Given the description of an element on the screen output the (x, y) to click on. 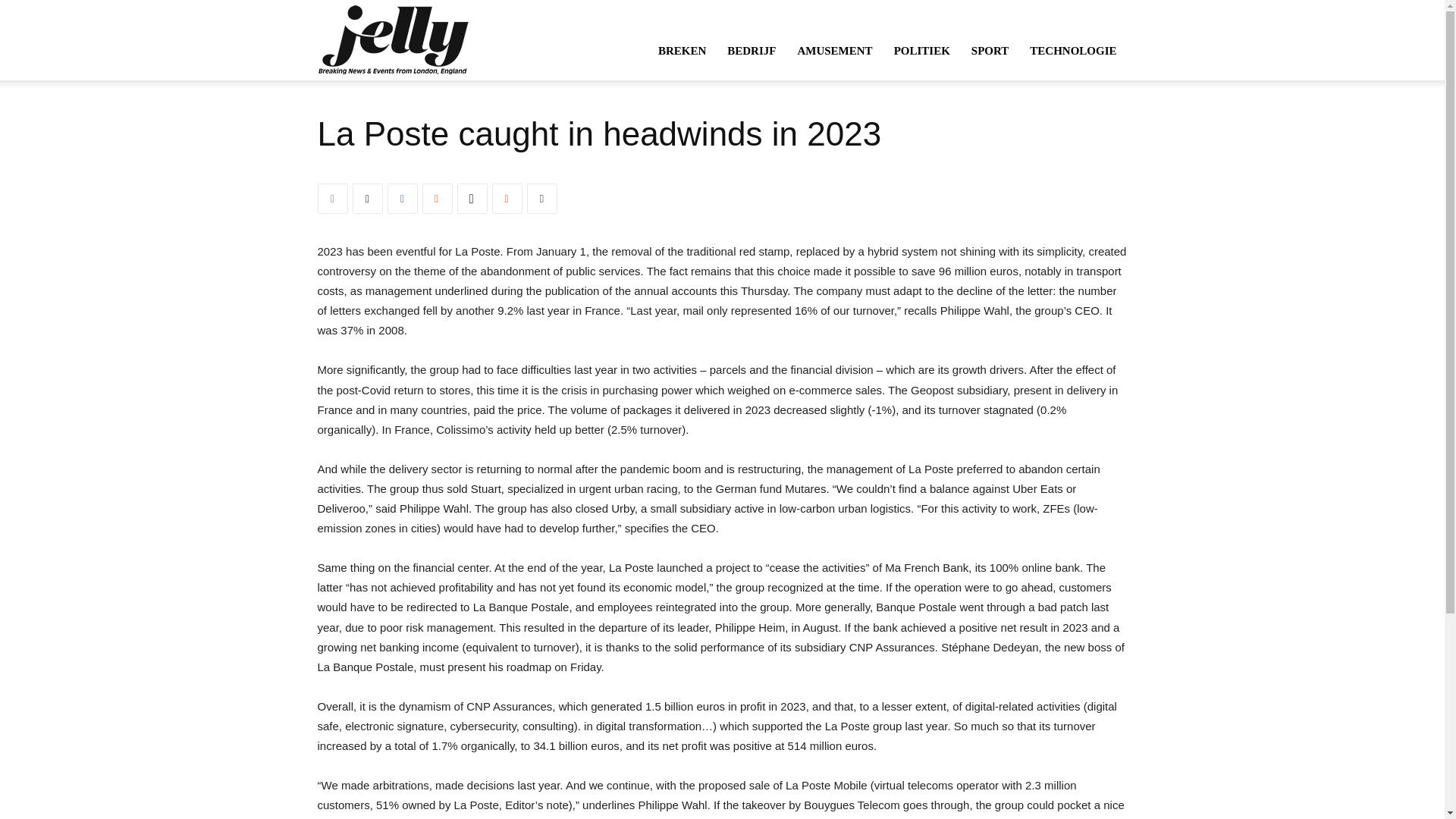
Tumblr (401, 198)
Jelly Nieuws (392, 39)
Afdrukken (540, 198)
TECHNOLOGIE (1072, 50)
Digg (471, 198)
BREKEN (681, 50)
BEDRIJF (751, 50)
POLITIEK (921, 50)
ReddIt (506, 198)
Twitter (366, 198)
SPORT (989, 50)
Mix (436, 198)
AMUSEMENT (834, 50)
Facebook (332, 198)
